Given the description of an element on the screen output the (x, y) to click on. 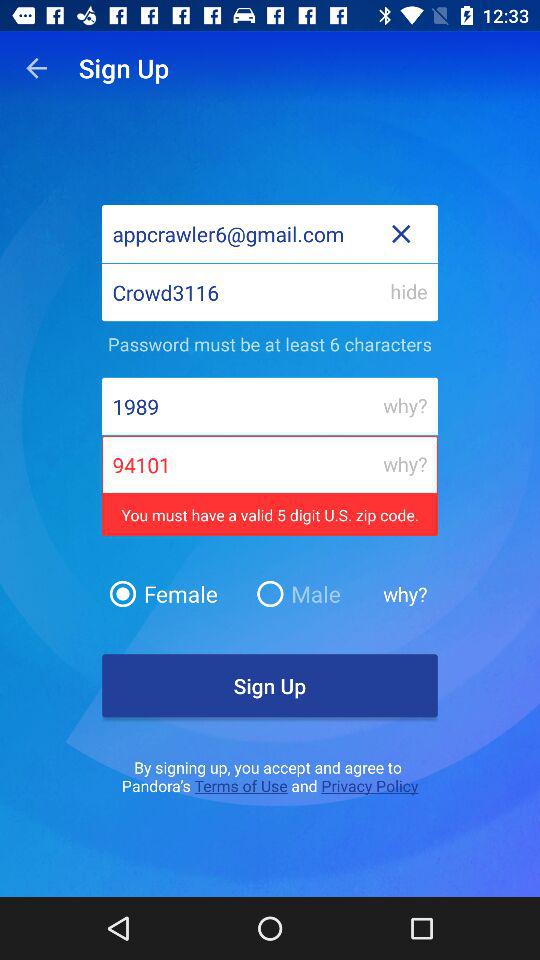
select the second text field (269, 292)
select the text below sign up (269, 776)
click on the option which says 94101 (269, 488)
click on the option which says crowd3116 (269, 292)
click on the option which says 94101 (269, 464)
click on female (175, 594)
click on appcrawler6gmailcom (269, 234)
select the third text field (269, 406)
